Given the description of an element on the screen output the (x, y) to click on. 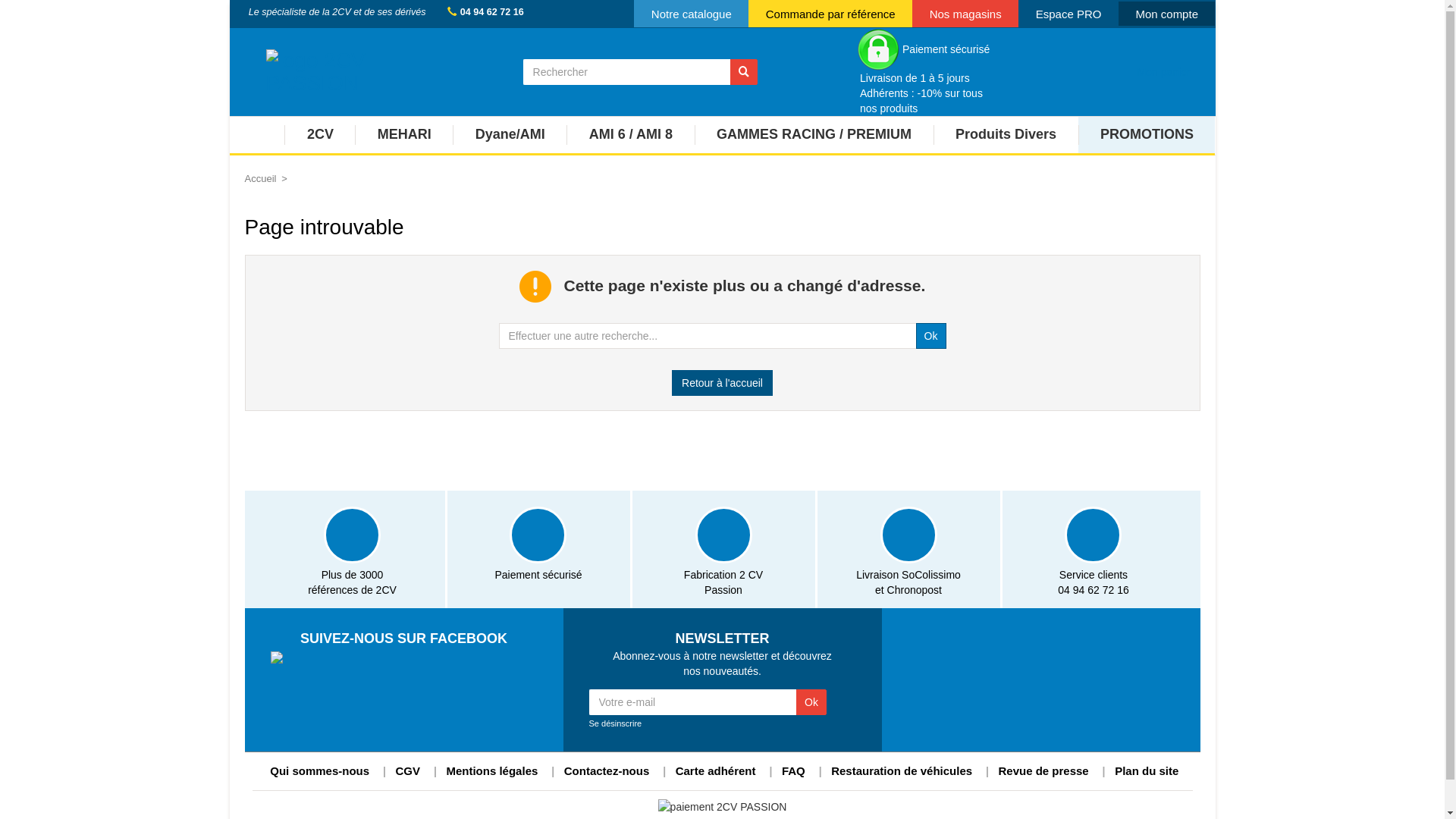
Livraison SoColissimo et Chronopost Element type: text (908, 549)
Mon panier Element type: text (1162, 71)
Espace PRO Element type: text (1068, 13)
AMI 6 / AMI 8 Element type: text (629, 135)
Dyane/AMI Element type: text (509, 135)
MEHARI Element type: text (403, 135)
Plan du site Element type: text (1146, 770)
Produits Divers Element type: text (1005, 135)
Nos magasins Element type: text (965, 13)
Notre catalogue Element type: text (690, 13)
GAMMES RACING / PREMIUM Element type: text (813, 135)
Fabrication 2 CV Passion Element type: text (723, 549)
Service clients
04 94 62 72 16 Element type: text (1092, 549)
PROMOTIONS Element type: text (1146, 135)
Accueil Element type: text (260, 178)
2CV Element type: text (319, 135)
Ok Element type: text (811, 702)
CGV Element type: text (407, 770)
Ok Element type: text (931, 335)
Qui sommes-nous Element type: text (319, 770)
Mon compte Element type: text (1166, 13)
Revue de presse Element type: text (1042, 770)
FAQ Element type: text (793, 770)
Contactez-nous Element type: text (606, 770)
